Given the description of an element on the screen output the (x, y) to click on. 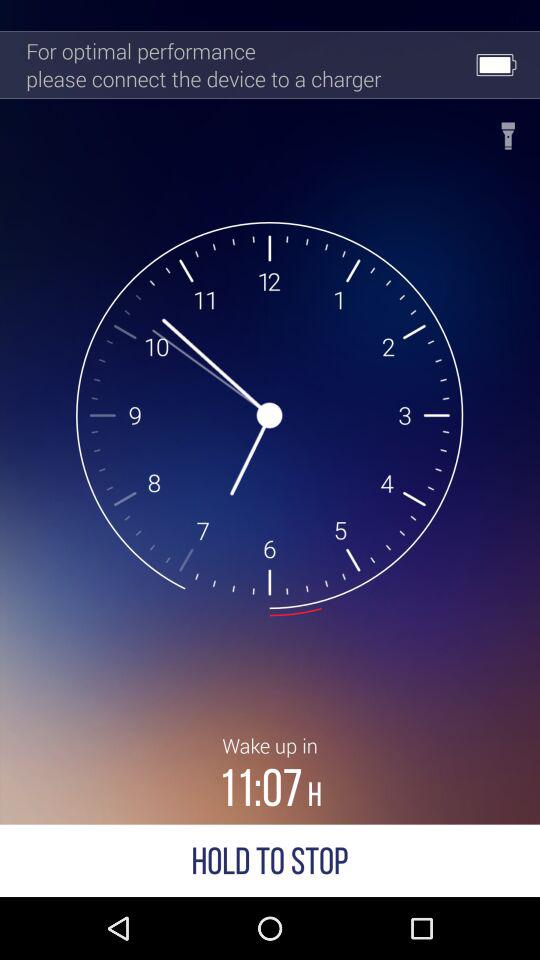
launch item below the 11:07 h icon (270, 860)
